Given the description of an element on the screen output the (x, y) to click on. 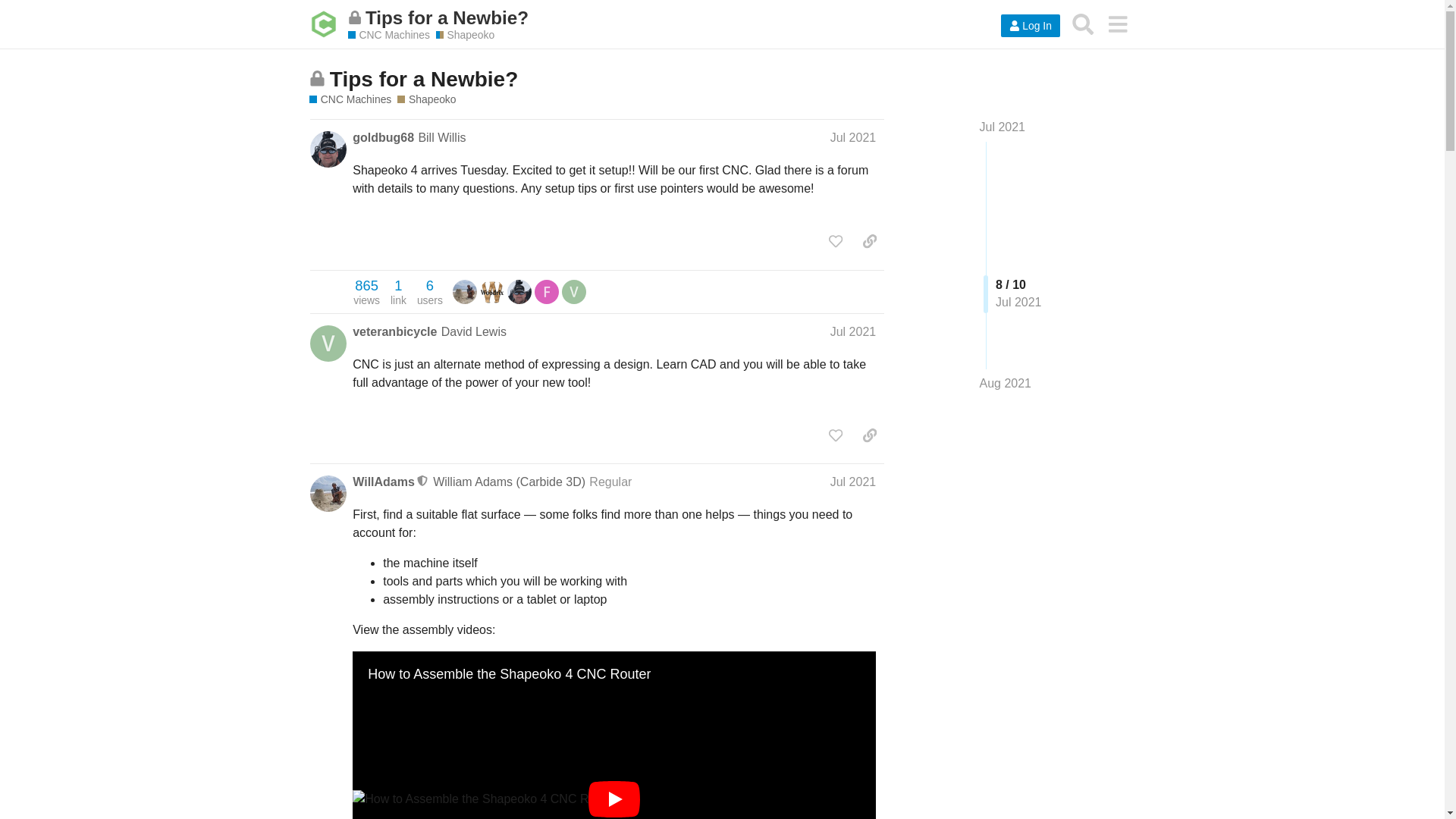
Bill Willis (441, 137)
veteranbicycle (394, 330)
Shapeoko (426, 99)
Tips for a Newbie? (424, 78)
David Lewis (473, 330)
WillAdams (383, 482)
goldbug68 (382, 137)
Jul 2021 (852, 137)
How to Assemble the Shapeoko 4 CNC Router (509, 674)
Tips for a Newbie? (670, 17)
Post date (852, 137)
copy a link to this post to clipboard (869, 240)
ehendrix (491, 290)
Jump to the first post (366, 291)
